Given the description of an element on the screen output the (x, y) to click on. 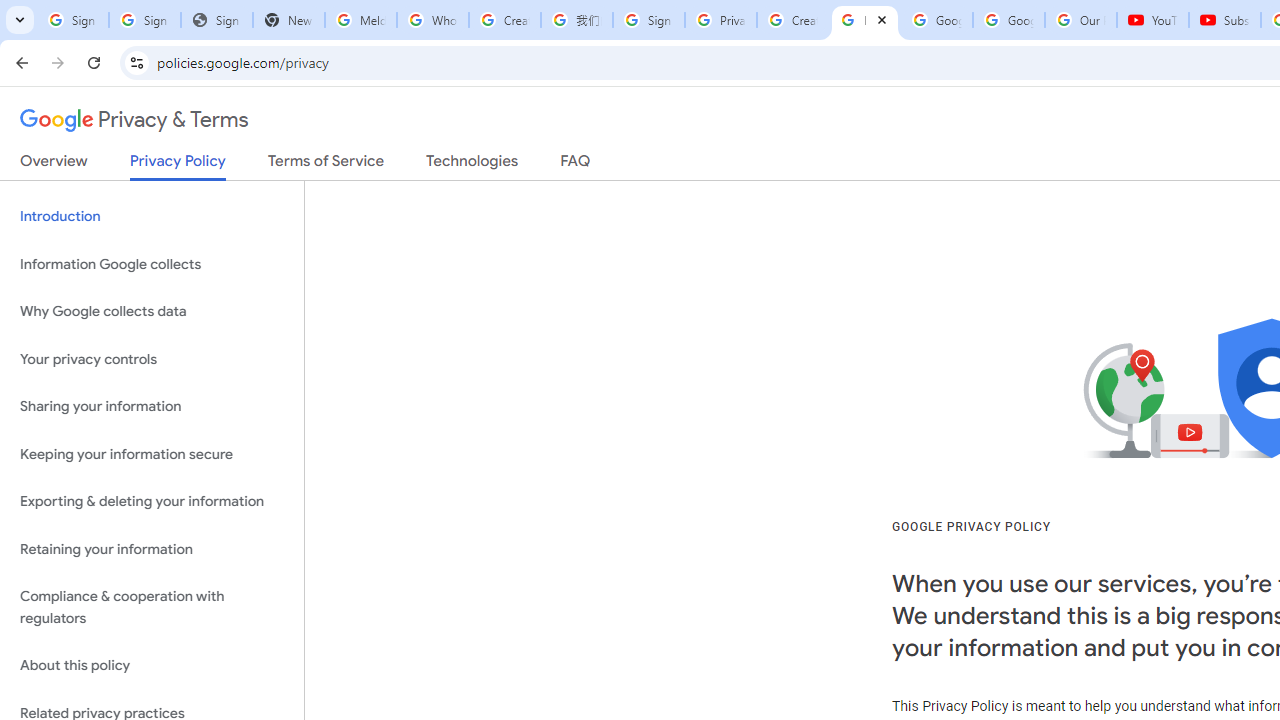
Subscriptions - YouTube (1224, 20)
YouTube (1153, 20)
Sign in - Google Accounts (648, 20)
Your privacy controls (152, 358)
Compliance & cooperation with regulators (152, 607)
